Given the description of an element on the screen output the (x, y) to click on. 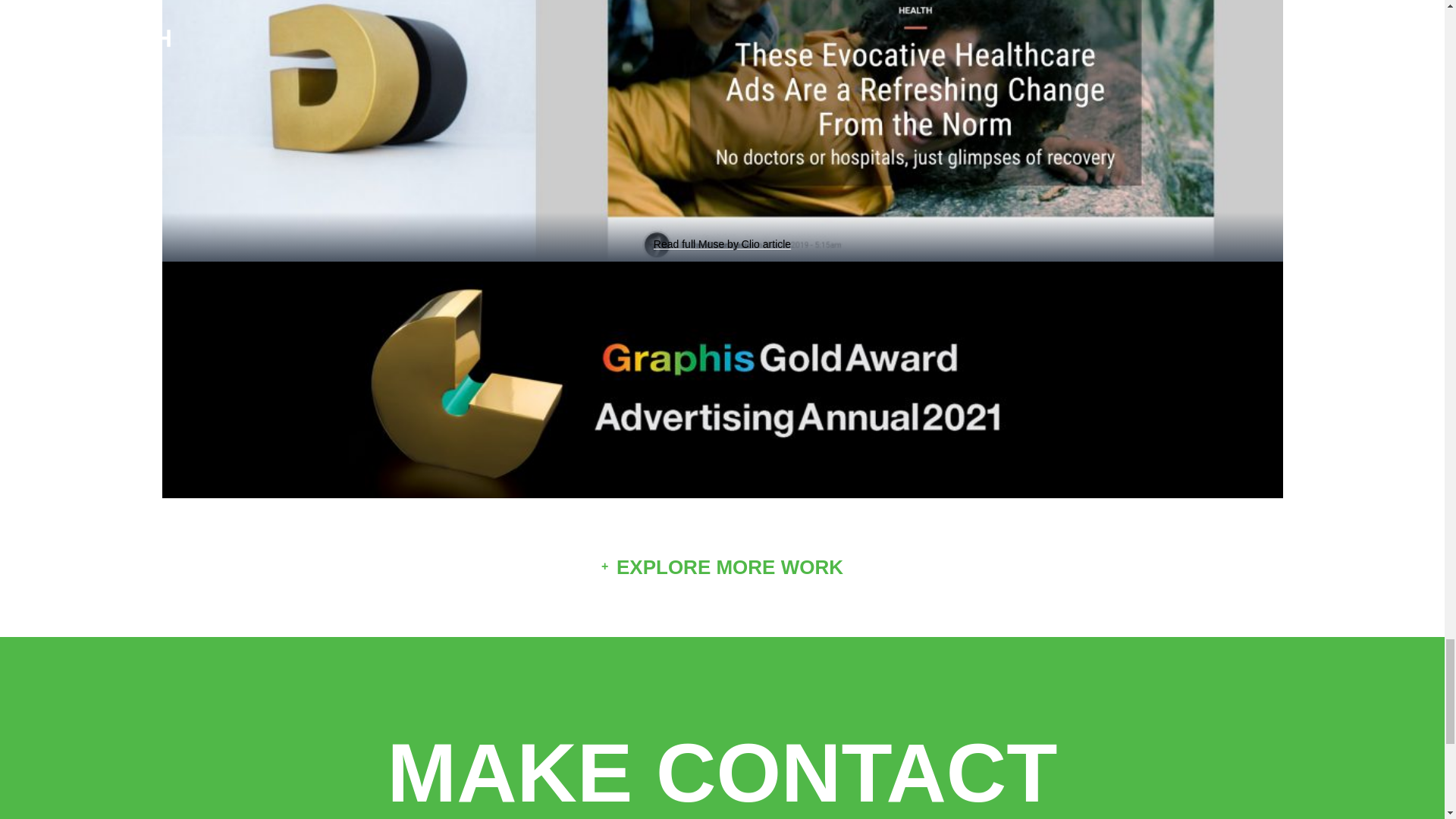
Read full Muse by Clio article (721, 244)
MAKE CONTACT (722, 764)
EXPLORE MORE WORK (722, 567)
Contact Us (722, 764)
